Given the description of an element on the screen output the (x, y) to click on. 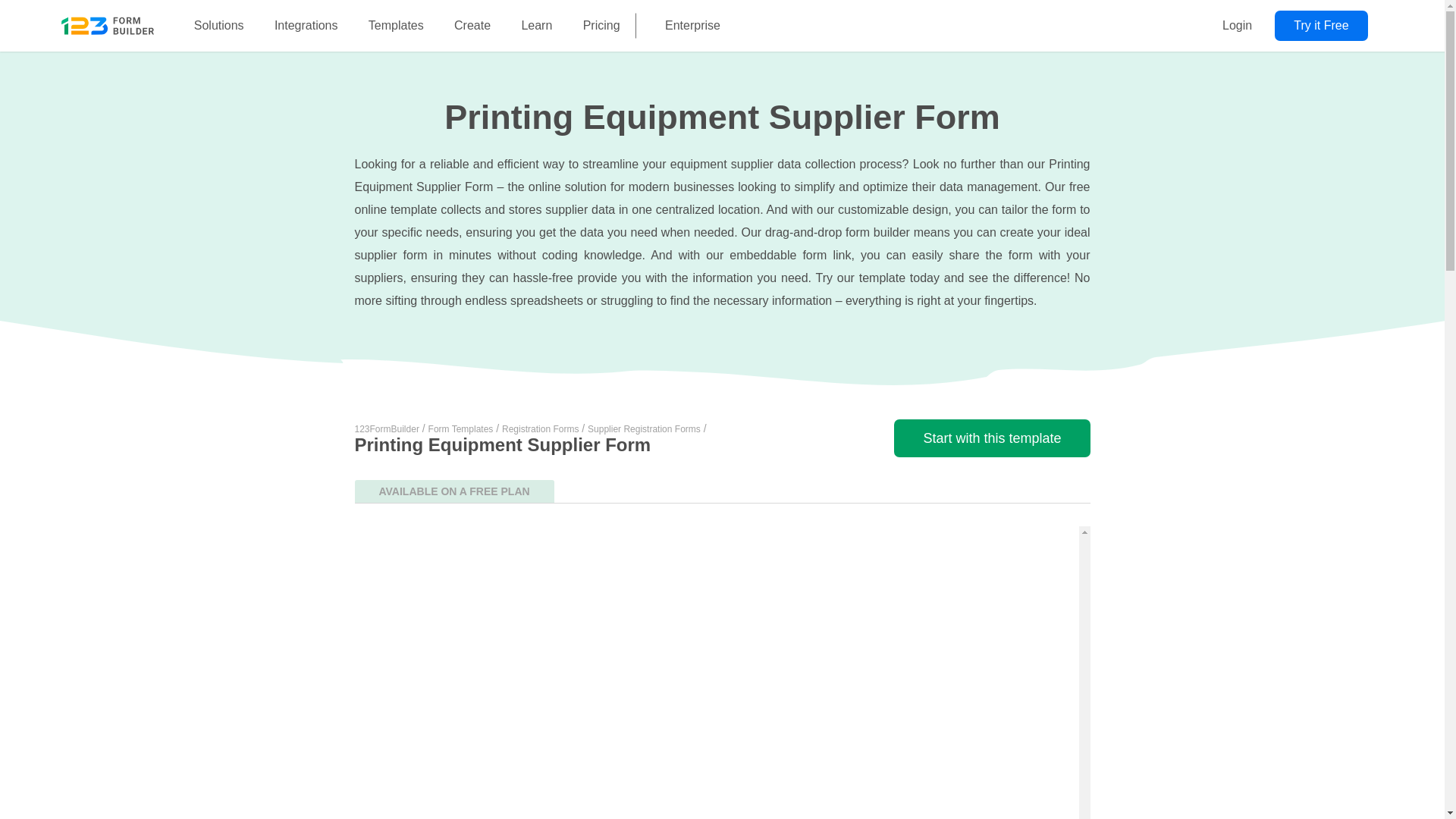
Integrations (306, 25)
Solutions (219, 25)
Login to your account (1236, 25)
